Given the description of an element on the screen output the (x, y) to click on. 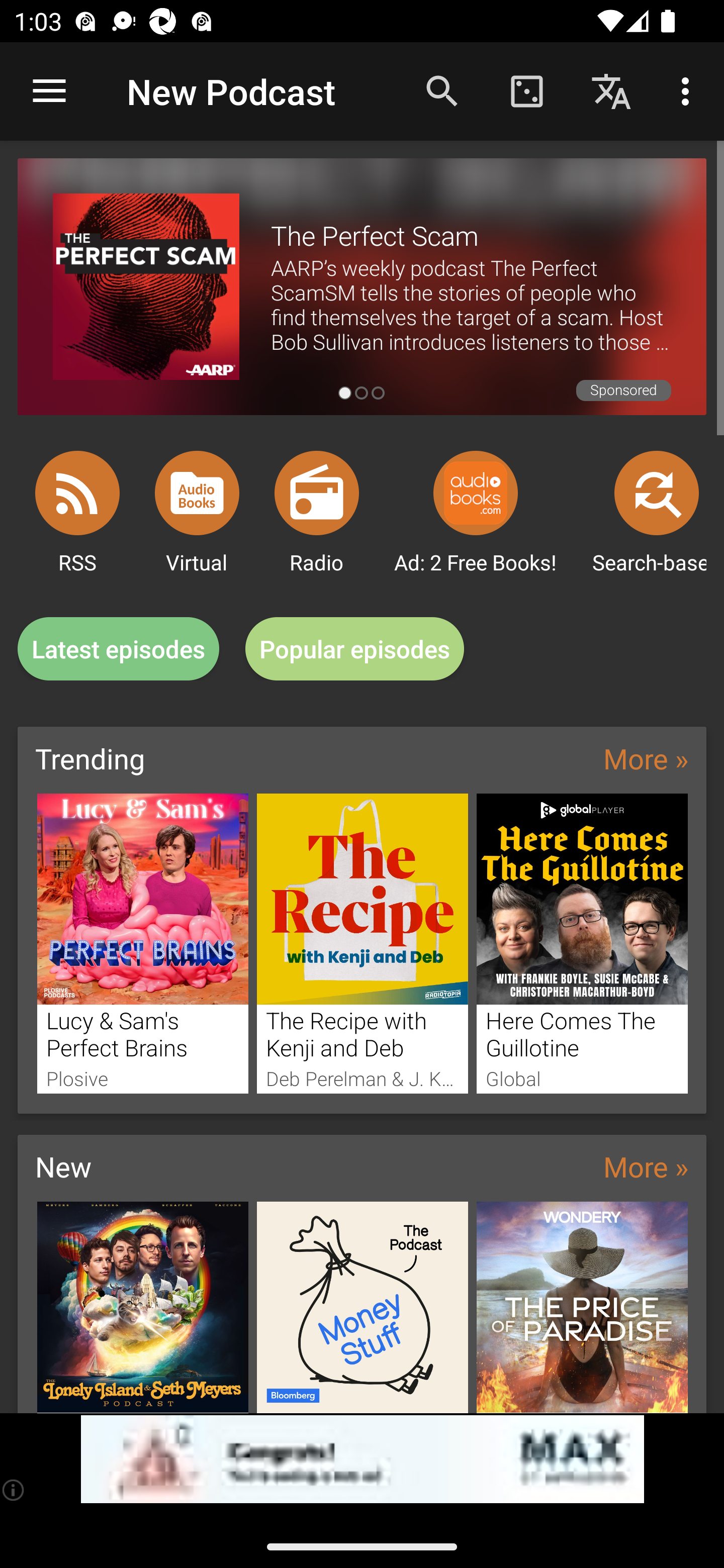
Open navigation sidebar (49, 91)
Search (442, 90)
Random pick (526, 90)
Podcast languages (611, 90)
More options (688, 90)
RSS (77, 492)
Virtual (196, 492)
Radio (316, 492)
Search-based (656, 492)
Latest episodes (118, 648)
Popular episodes (354, 648)
More » (645, 757)
Lucy & Sam's Perfect Brains Plosive (142, 942)
Here Comes The Guillotine Global (581, 942)
More » (645, 1166)
The Lonely Island and Seth Meyers Podcast (142, 1306)
Money Stuff: The Podcast (362, 1306)
The Price of Paradise (581, 1306)
app-monetization (362, 1459)
(i) (14, 1489)
